Given the description of an element on the screen output the (x, y) to click on. 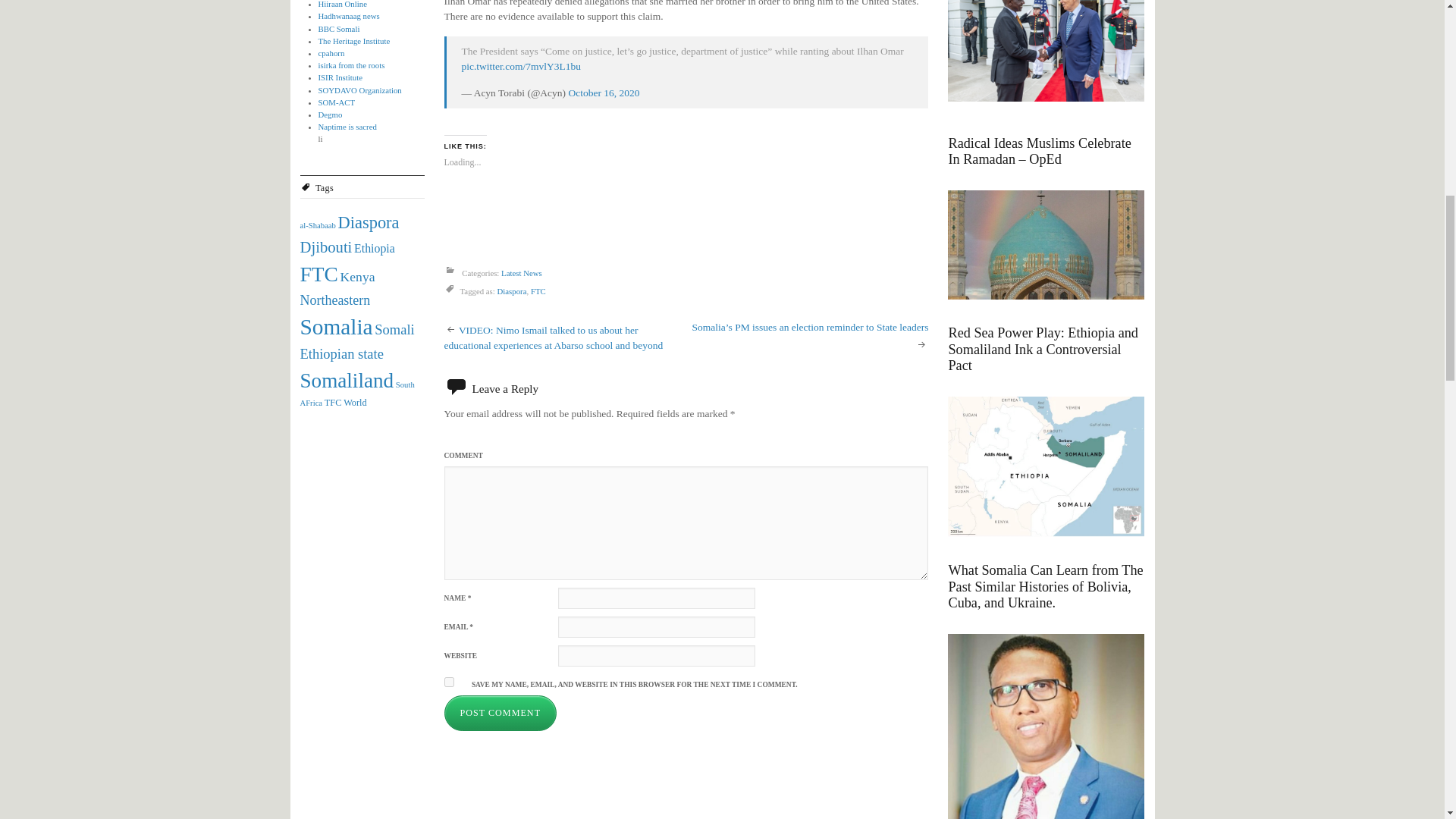
TFC (333, 402)
Somali Ethiopian state (356, 341)
Djibouti (325, 247)
al-Shabaab (317, 225)
cpahorn (331, 52)
Post Comment (500, 713)
yes (449, 682)
Naptime is sacred (347, 126)
Like or Reblog (686, 217)
World (354, 402)
South AFrica (356, 393)
Northeastern (335, 299)
Somalia (335, 326)
Somaliland (346, 380)
BBC Somali (338, 28)
